Given the description of an element on the screen output the (x, y) to click on. 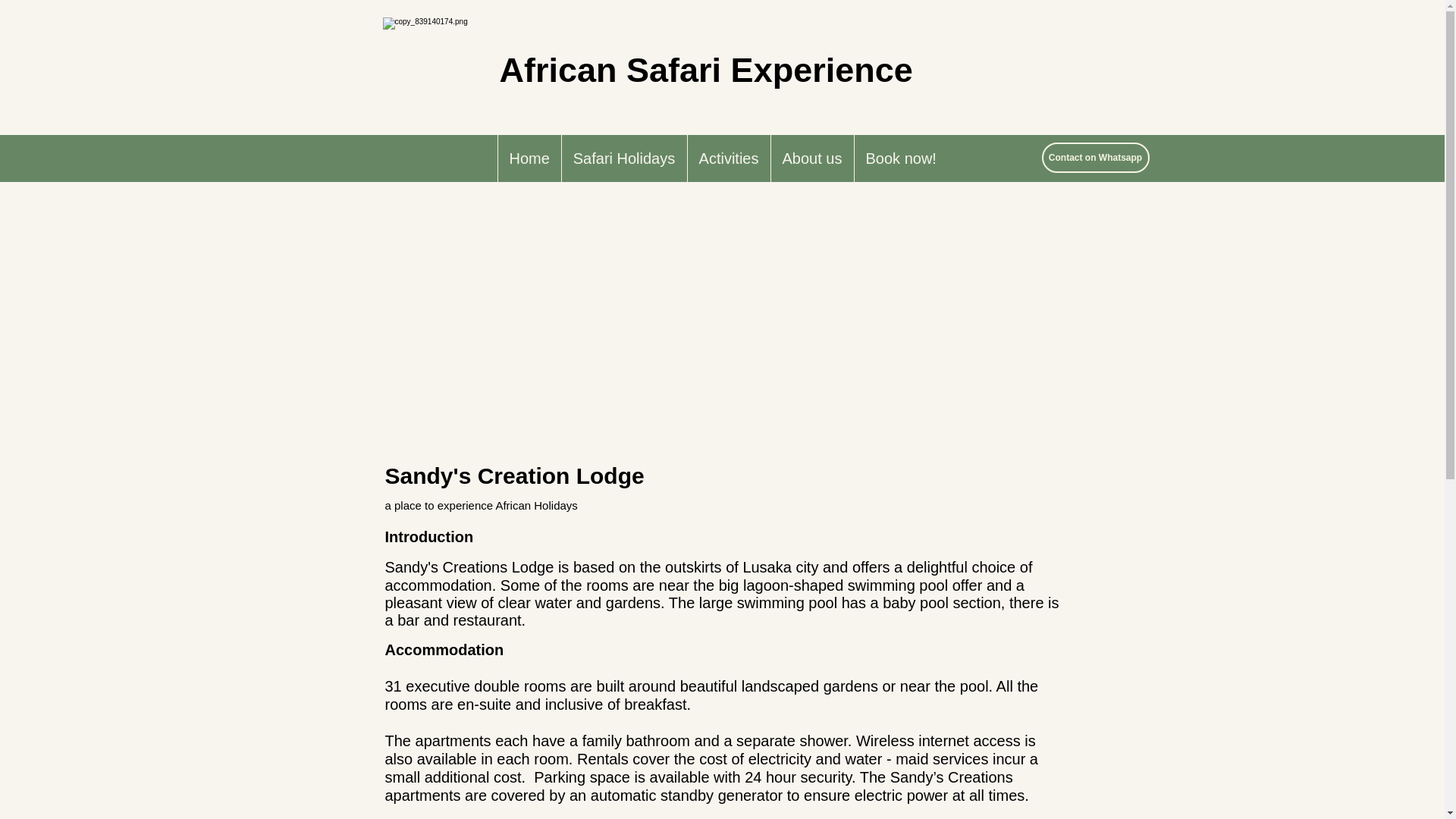
Activities (728, 158)
Book now! (900, 158)
Contact on Whatsapp (1096, 157)
About us (811, 158)
Home (528, 158)
Safari Holidays (623, 158)
